Given the description of an element on the screen output the (x, y) to click on. 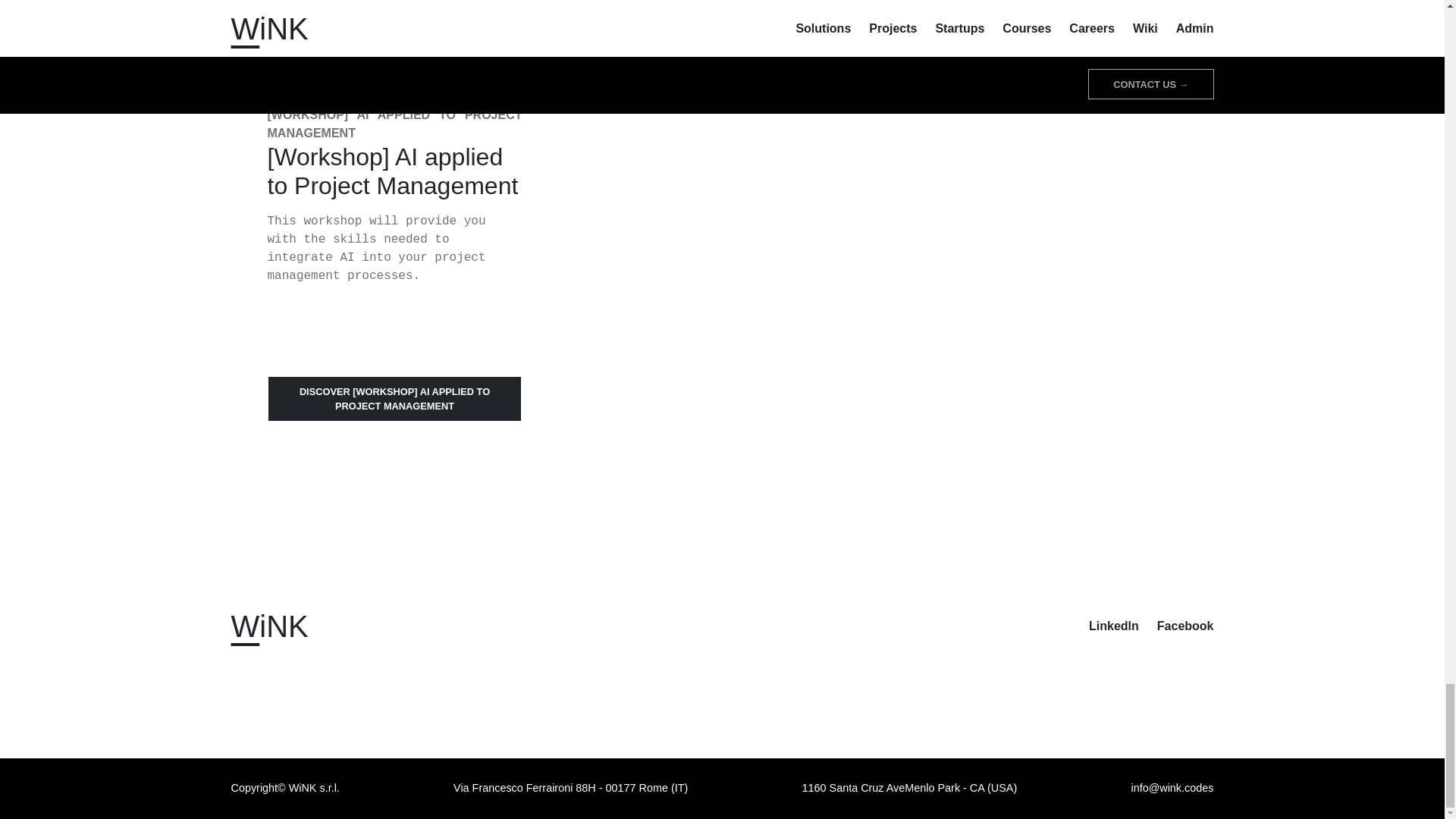
Facebook (1185, 625)
Linkedln (1113, 625)
